Given the description of an element on the screen output the (x, y) to click on. 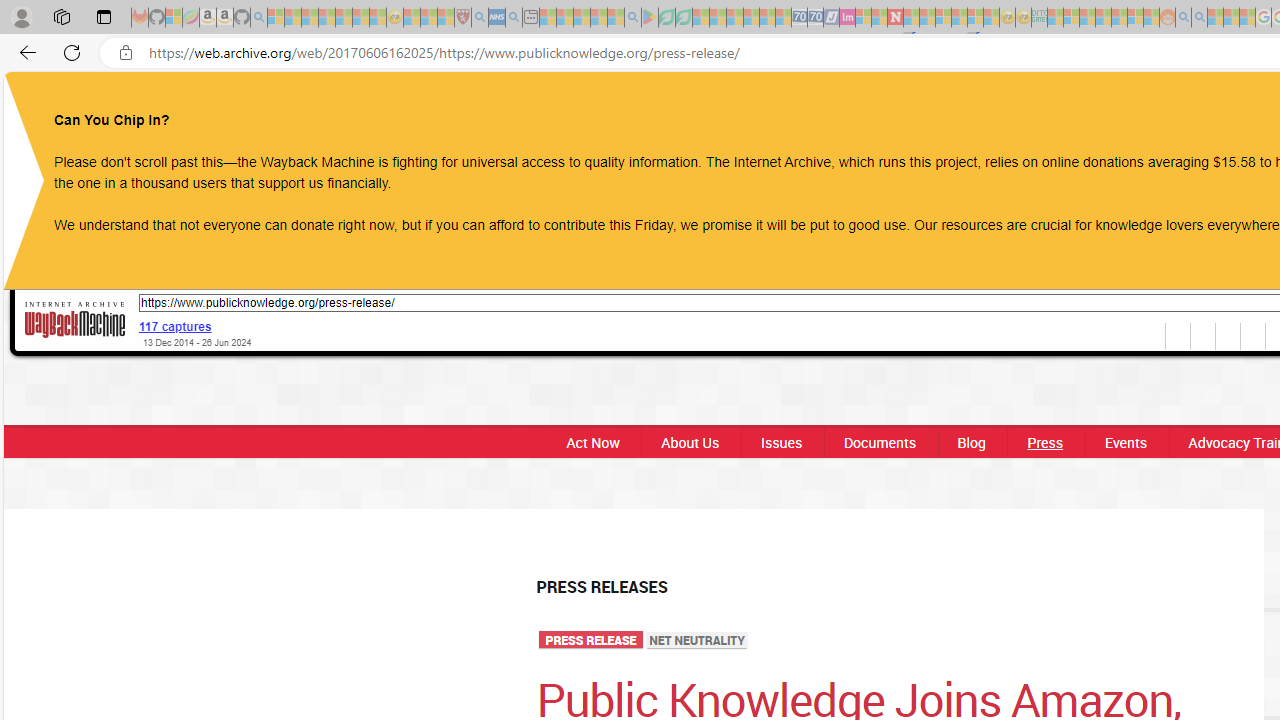
FACEBOOK (1138, 108)
Events (1125, 442)
TWITTER (1218, 108)
Press (1044, 442)
Documents (879, 442)
